Given the description of an element on the screen output the (x, y) to click on. 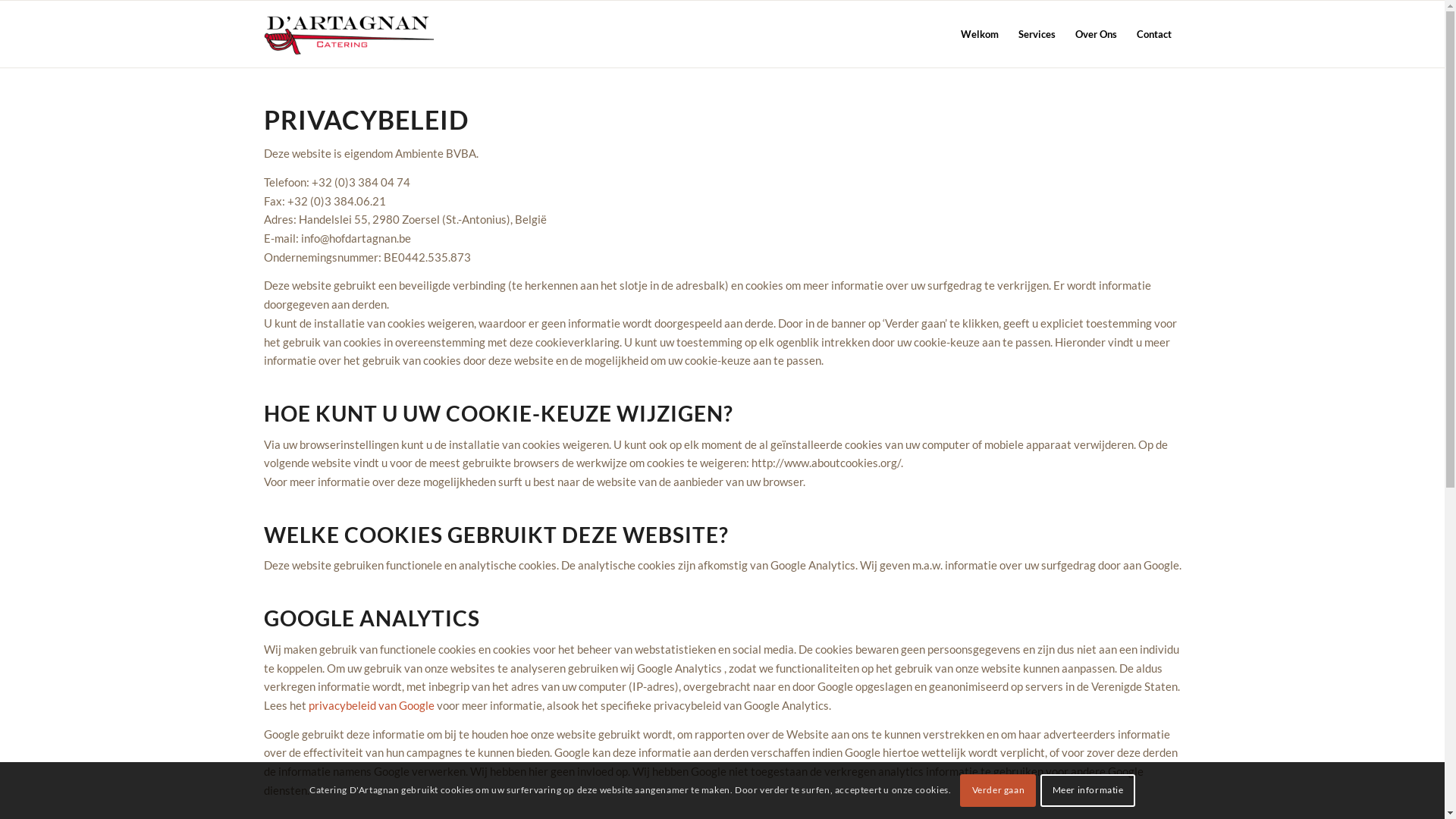
Services Element type: text (1036, 33)
Meer informatie Element type: text (1087, 790)
Verder gaan Element type: text (997, 790)
Welkom Element type: text (979, 33)
Over Ons Element type: text (1095, 33)
privacybeleid van Google Element type: text (370, 705)
Contact Element type: text (1153, 33)
